Given the description of an element on the screen output the (x, y) to click on. 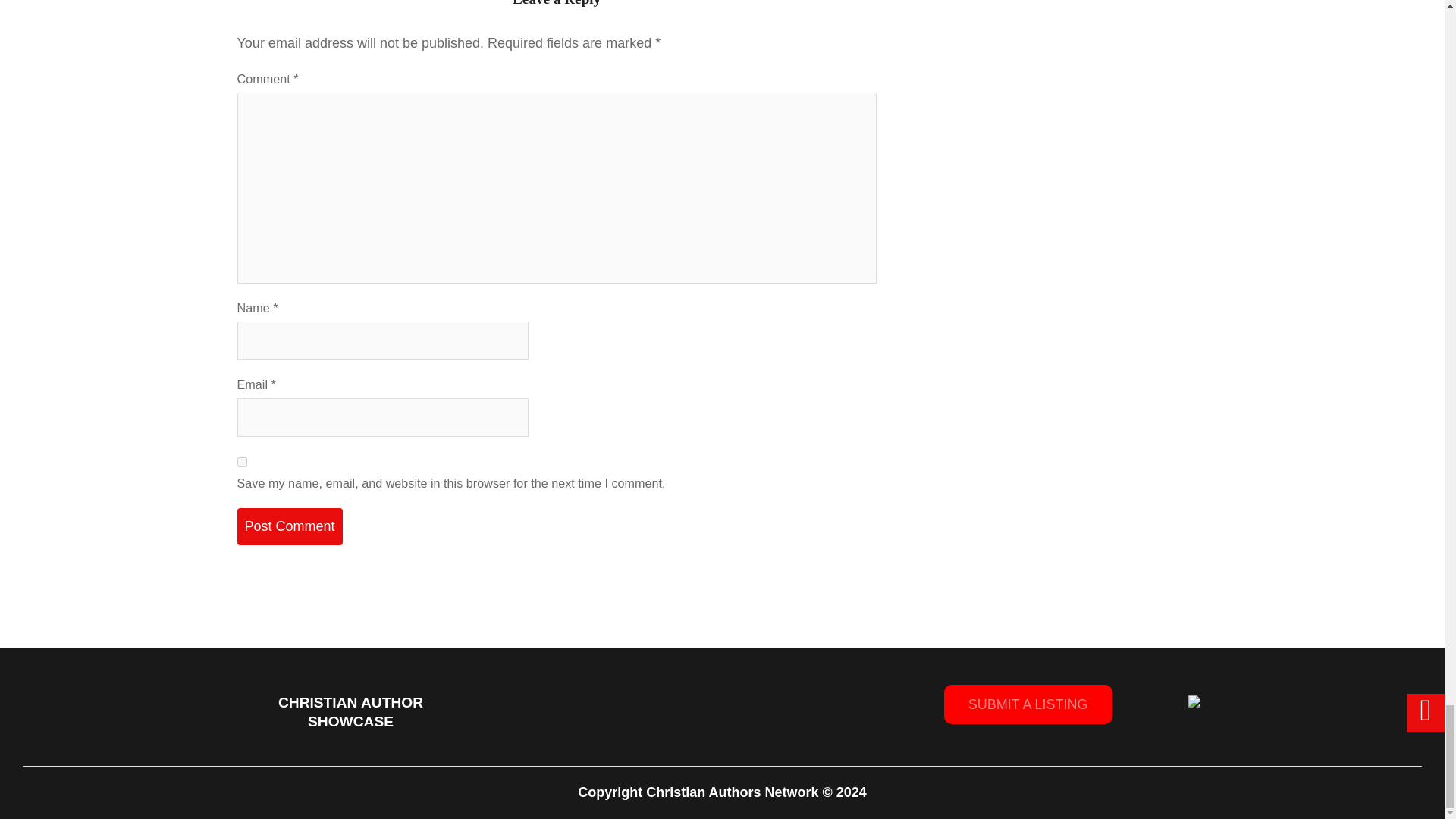
Post Comment (288, 526)
Post Comment (288, 526)
yes (240, 461)
SUBMIT A LISTING (1027, 703)
